Given the description of an element on the screen output the (x, y) to click on. 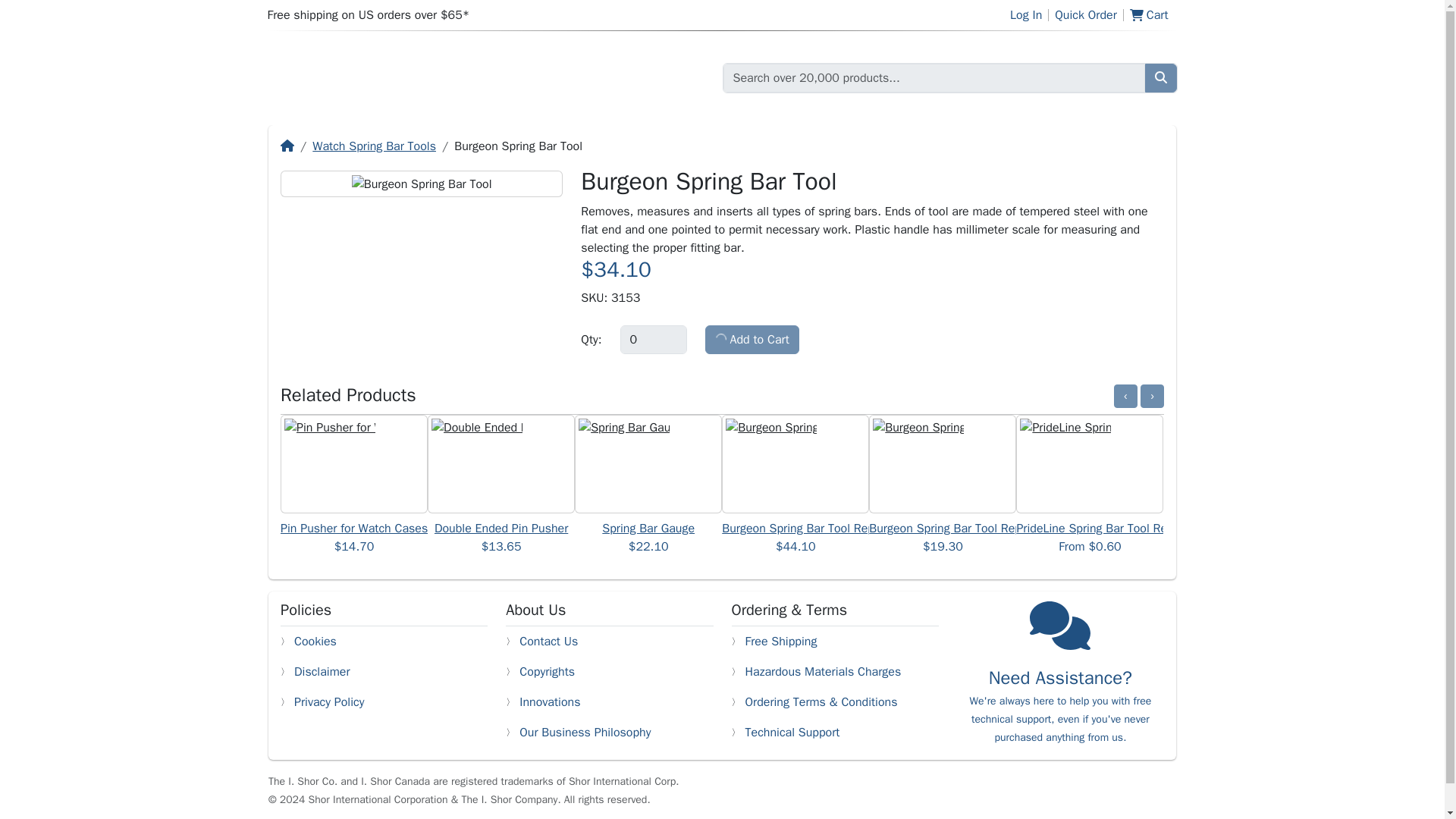
PrideLine Spring Bar Tool Replacement Parts (1134, 528)
0 (653, 339)
Click To Verify (1141, 795)
Home page (410, 77)
Double Ended Pin Pusher (500, 528)
Log In (1026, 15)
Burgeon Spring Bar Tool Replacement Flat Tips (846, 528)
Contact Us (548, 641)
Pin Pusher for Watch Cases and Strap Buckles (404, 528)
Cart (1150, 15)
